Given the description of an element on the screen output the (x, y) to click on. 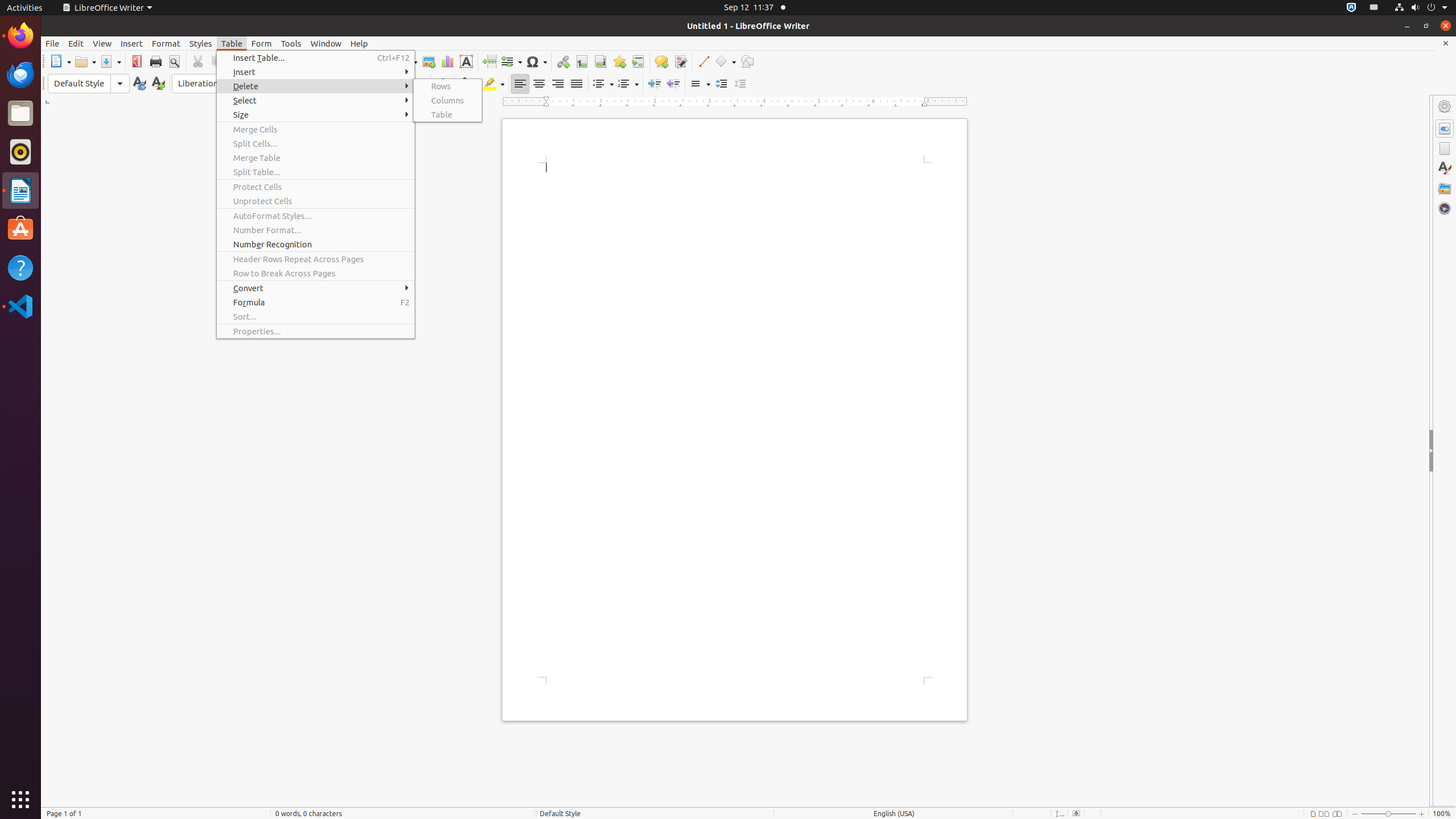
Basic Shapes Element type: push-button (724, 61)
Delete Element type: menu (315, 86)
Page Break Element type: push-button (489, 61)
